Given the description of an element on the screen output the (x, y) to click on. 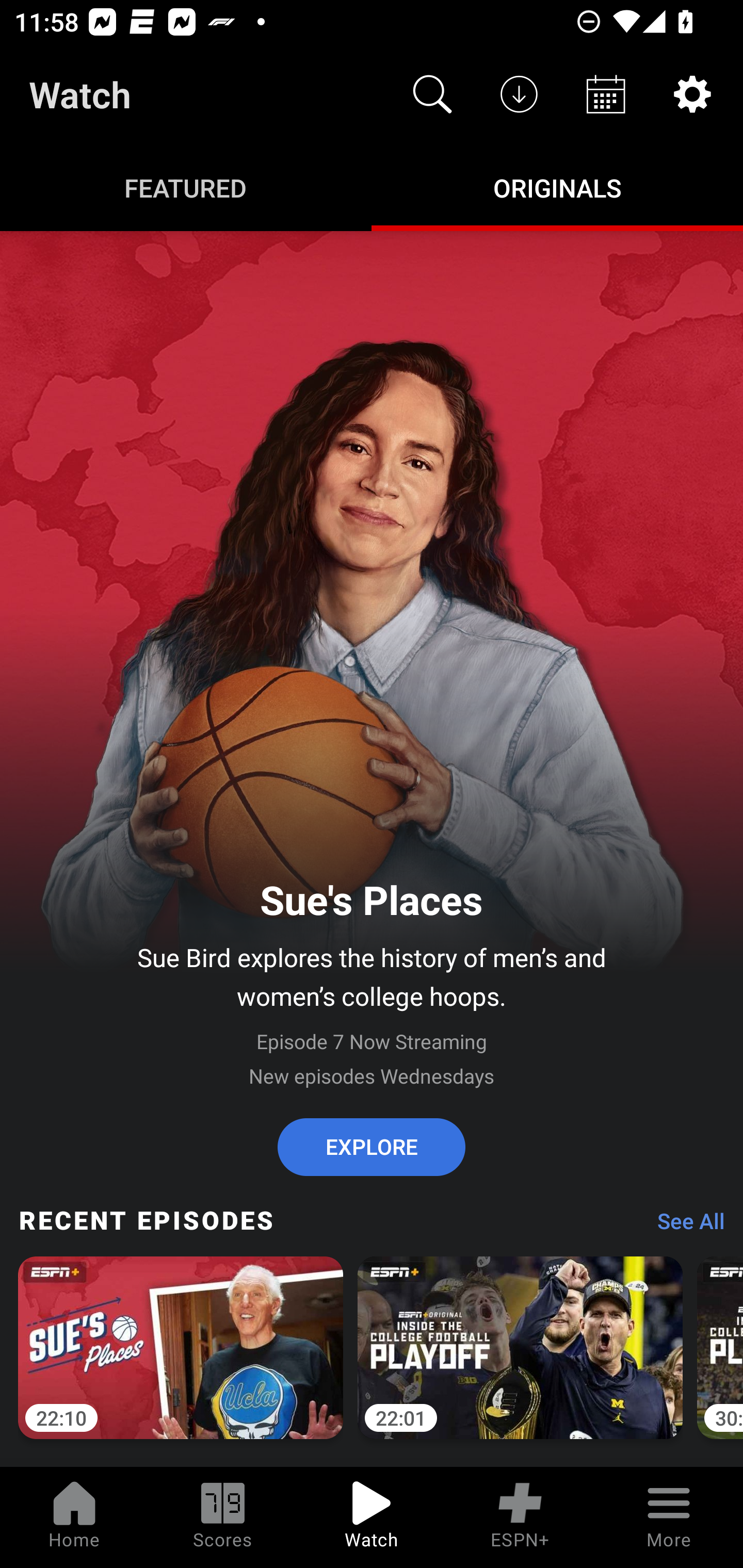
Search (432, 93)
Downloads (518, 93)
Schedule (605, 93)
Settings (692, 93)
Featured FEATURED (185, 187)
EXPLORE (371, 1146)
See All (683, 1225)
22:10 What’s All That Bracket? (Ep. 7) (180, 1358)
22:01 Nobody Better (Ep. 4) (519, 1358)
Home (74, 1517)
Scores (222, 1517)
ESPN+ (519, 1517)
More (668, 1517)
